Given the description of an element on the screen output the (x, y) to click on. 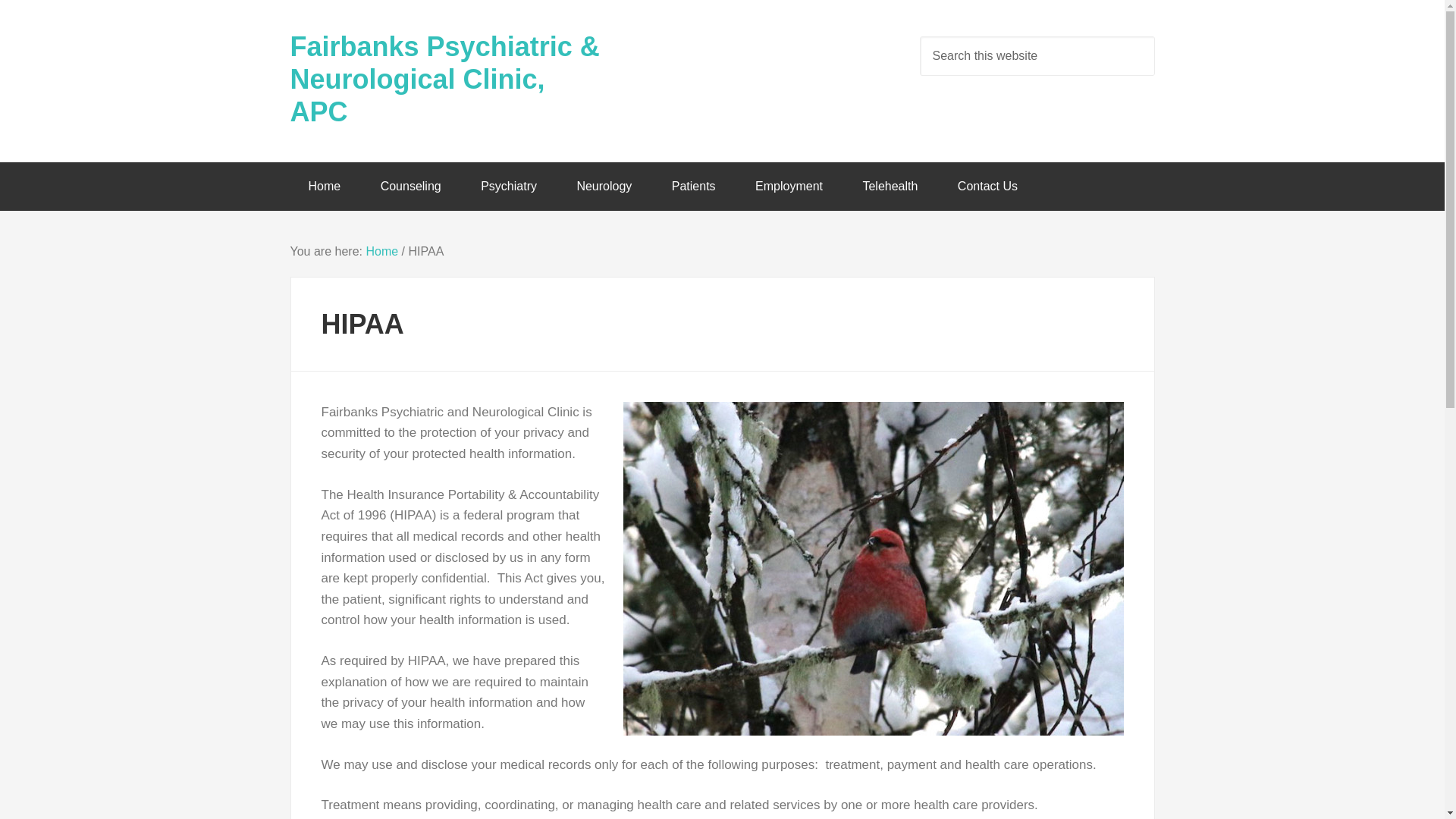
Psychiatry (508, 186)
Patients (693, 186)
Neurology (603, 186)
Contact Us (987, 186)
Home (323, 186)
Counseling (411, 186)
Telehealth (890, 186)
Home (381, 250)
Employment (788, 186)
